Given the description of an element on the screen output the (x, y) to click on. 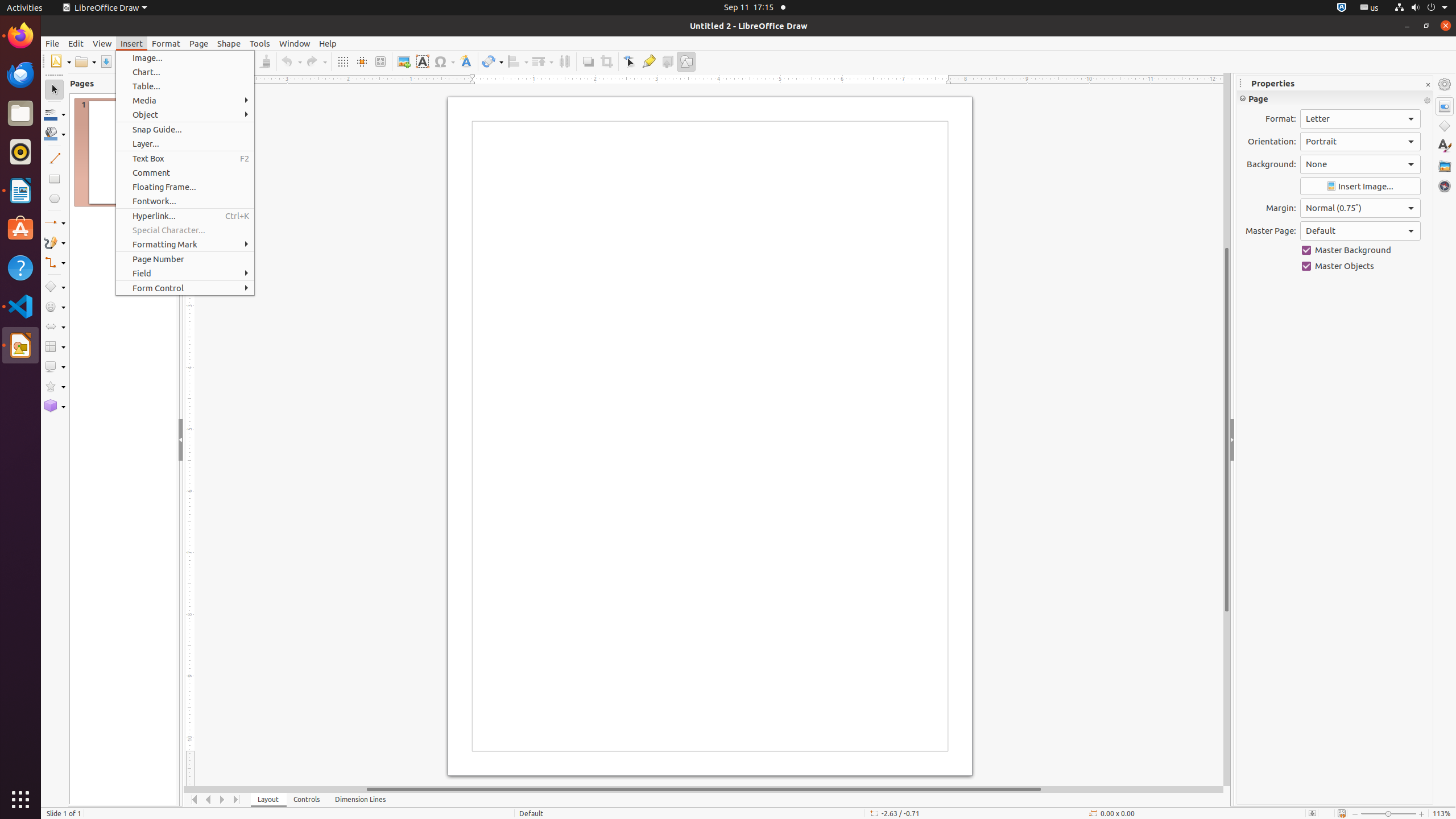
Glue Points Element type: push-button (648, 61)
Helplines While Moving Element type: toggle-button (361, 61)
Symbol Shapes Element type: push-button (54, 306)
Close Sidebar Deck Element type: push-button (1427, 84)
Controls Element type: page-tab (307, 799)
